Given the description of an element on the screen output the (x, y) to click on. 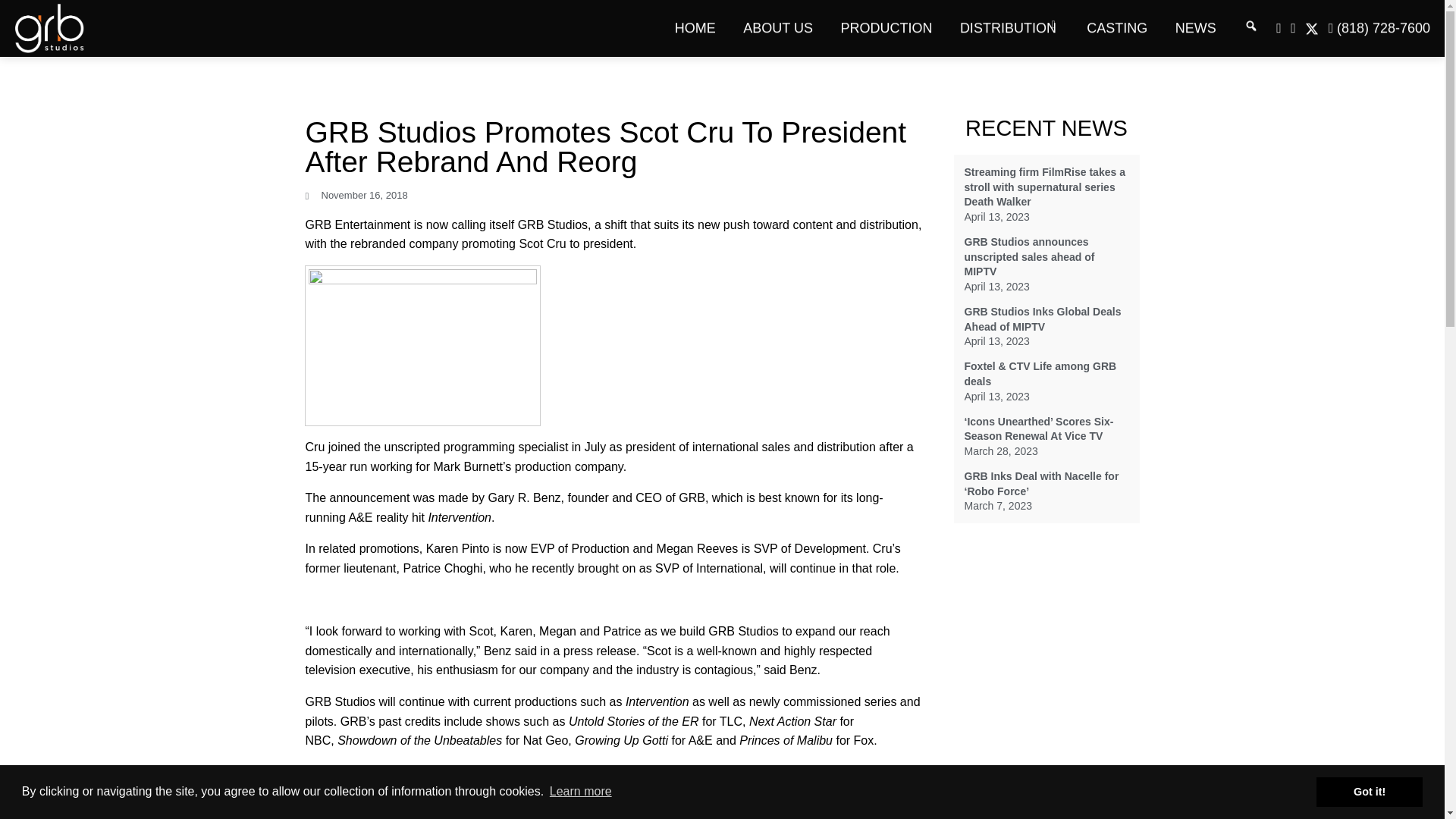
DISTRIBUTION (1009, 28)
PRODUCTION (886, 28)
ABOUT US (778, 28)
Got it! (1369, 791)
HOME (695, 28)
Learn more (580, 791)
